Given the description of an element on the screen output the (x, y) to click on. 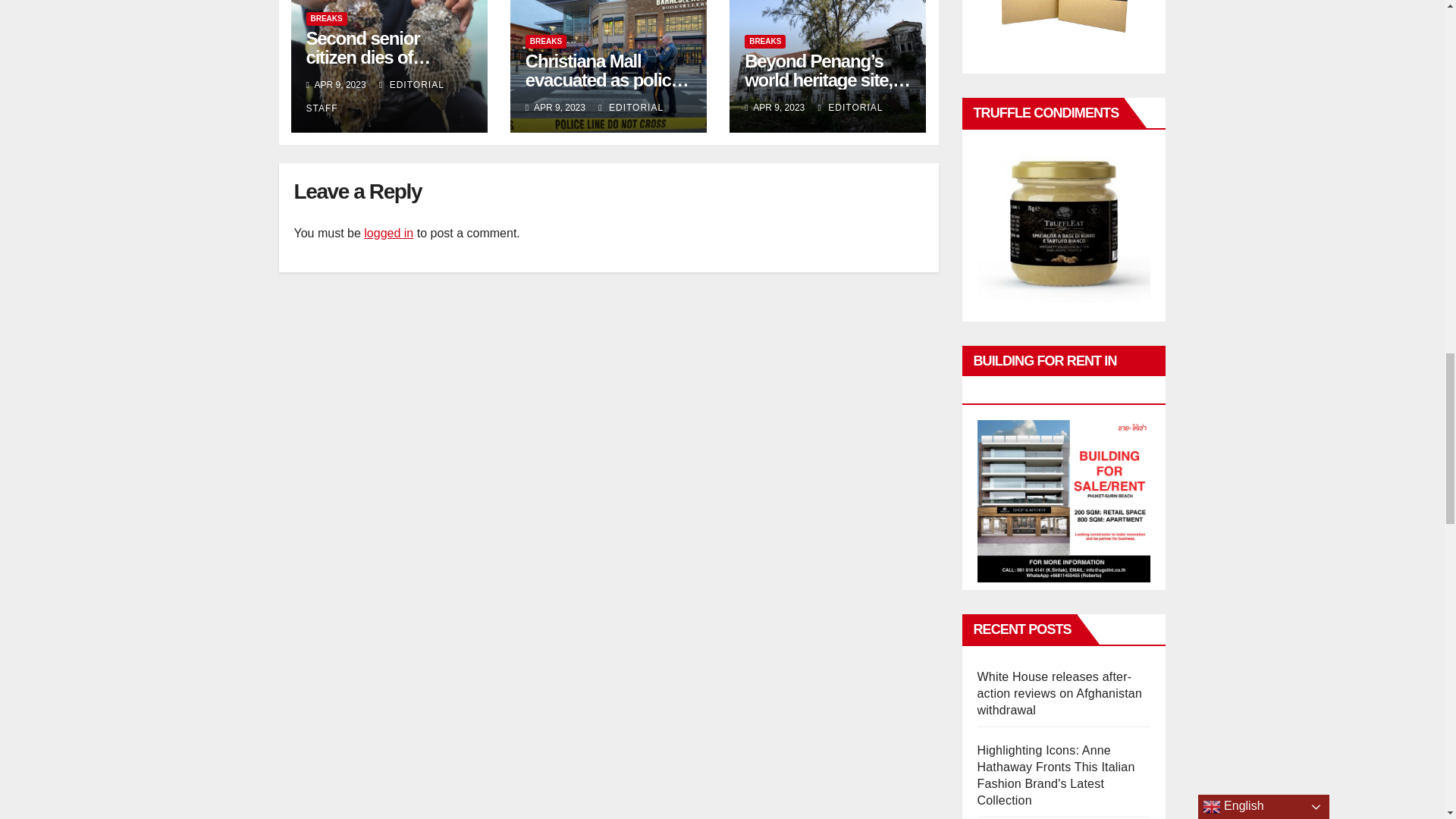
Second senior citizen dies of pufferfish poisoning in Johor (384, 66)
EDITORIAL STAFF (374, 96)
BREAKS (765, 41)
EDITORIAL (630, 107)
EDITORIAL (850, 107)
BREAKS (326, 18)
BREAKS (545, 41)
